Given the description of an element on the screen output the (x, y) to click on. 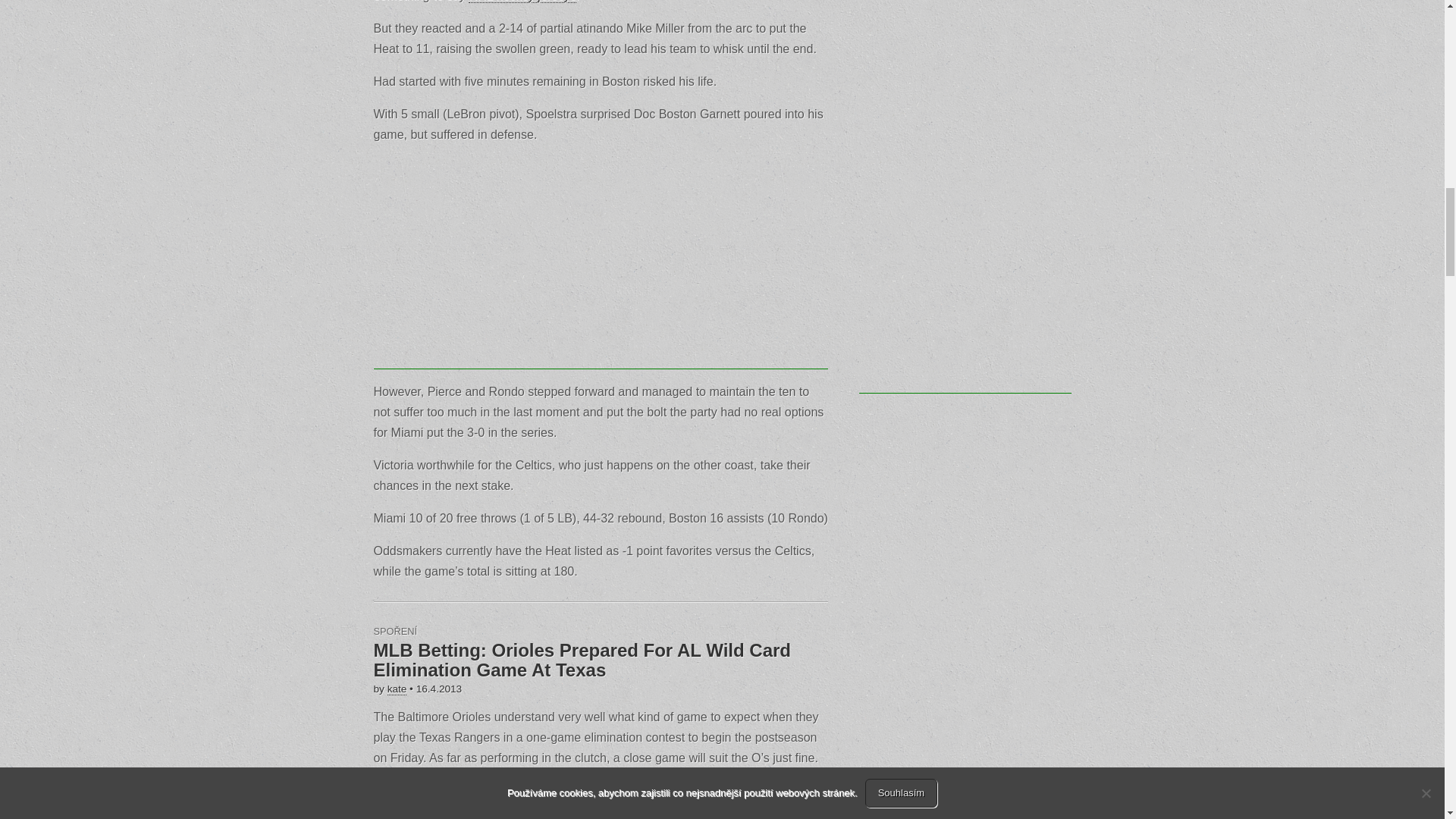
16.4.2013 (438, 688)
Advertisement (600, 263)
NHL hockey jerseys (522, 1)
Posts by kate (397, 689)
kate (397, 689)
